Given the description of an element on the screen output the (x, y) to click on. 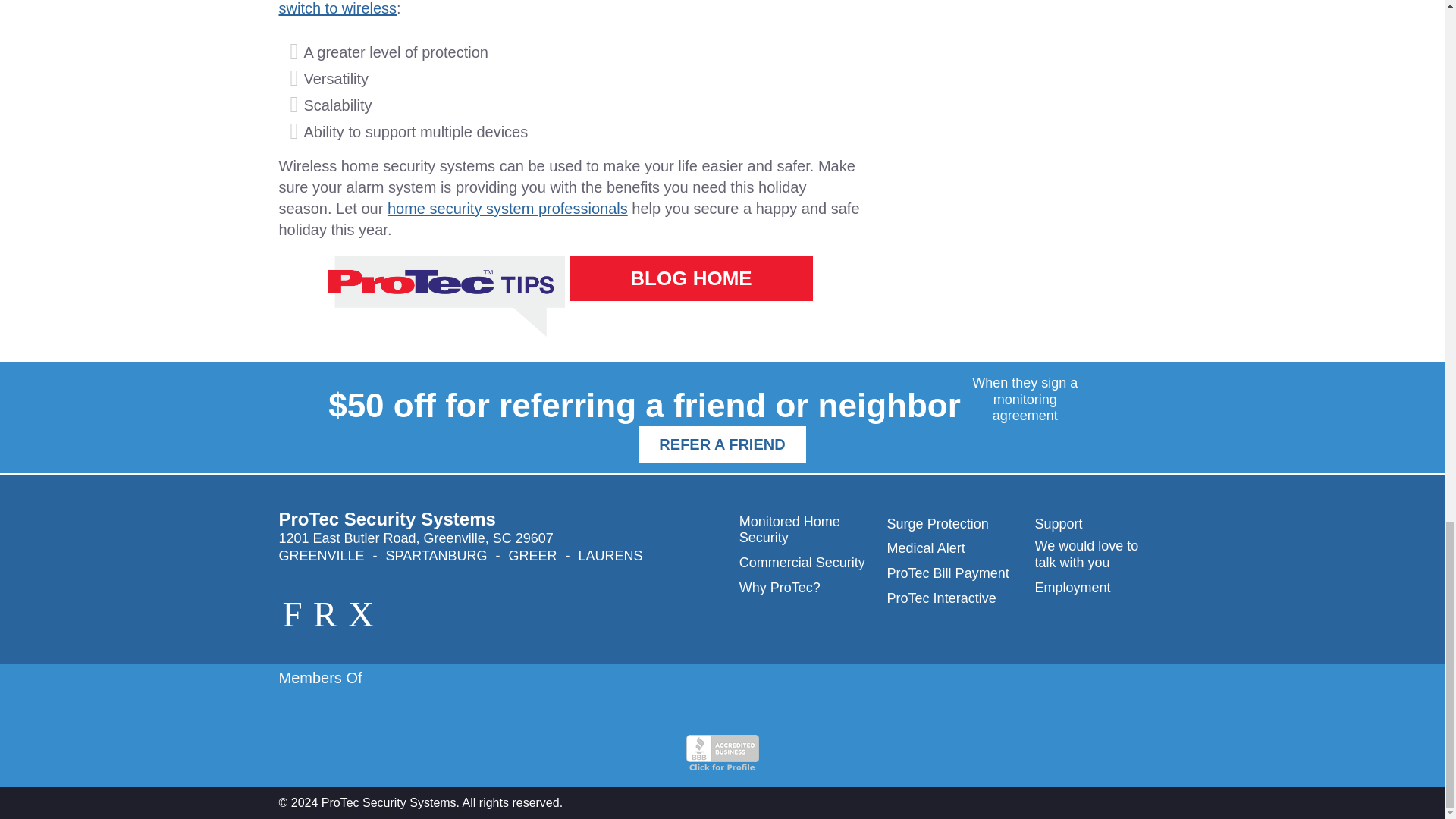
switch to wireless (338, 8)
home security system professionals (507, 208)
BLOG HOME (690, 278)
